Given the description of an element on the screen output the (x, y) to click on. 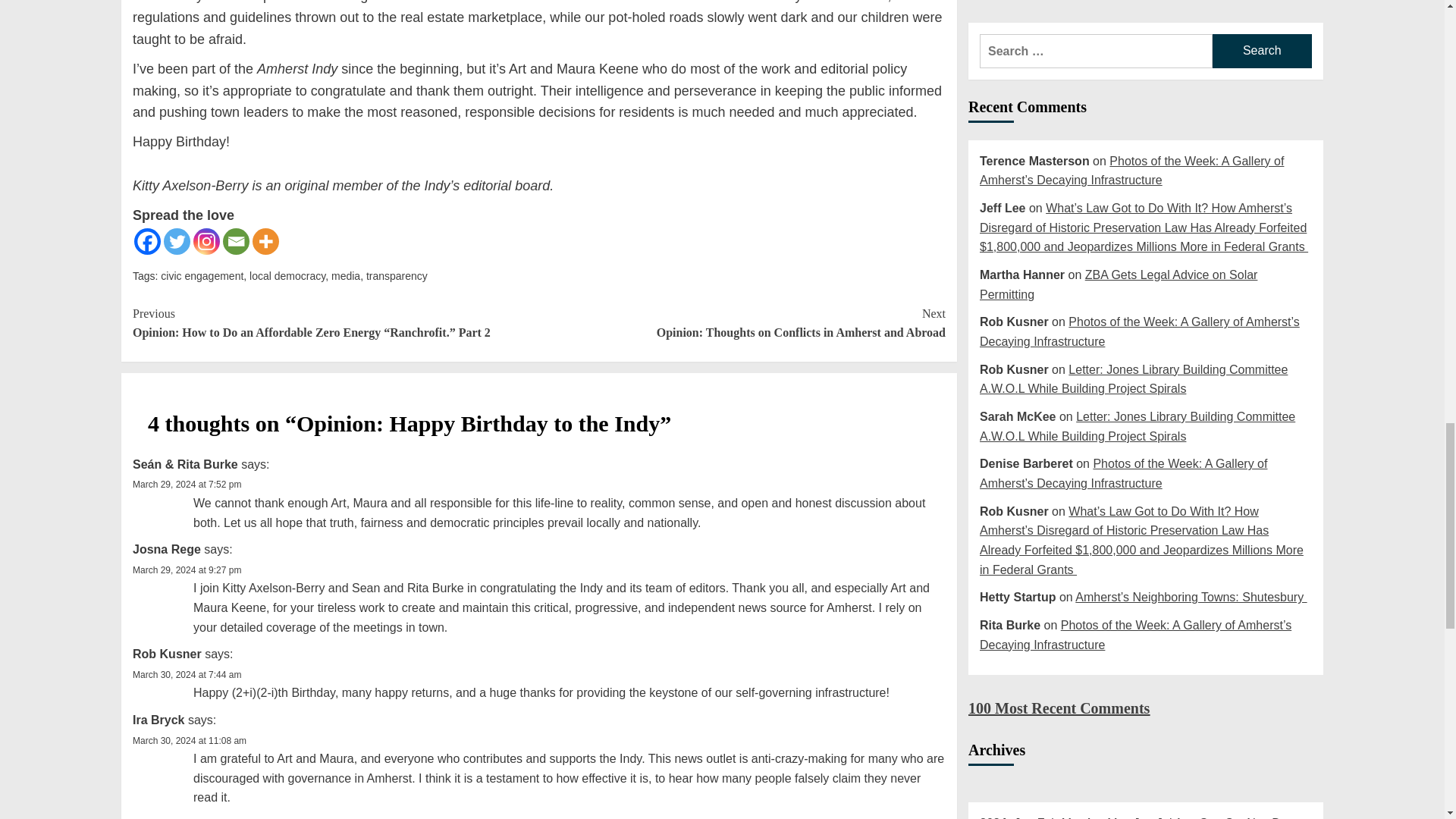
More (265, 241)
Facebook (146, 241)
Instagram (206, 241)
Email (235, 241)
Twitter (176, 241)
